Given the description of an element on the screen output the (x, y) to click on. 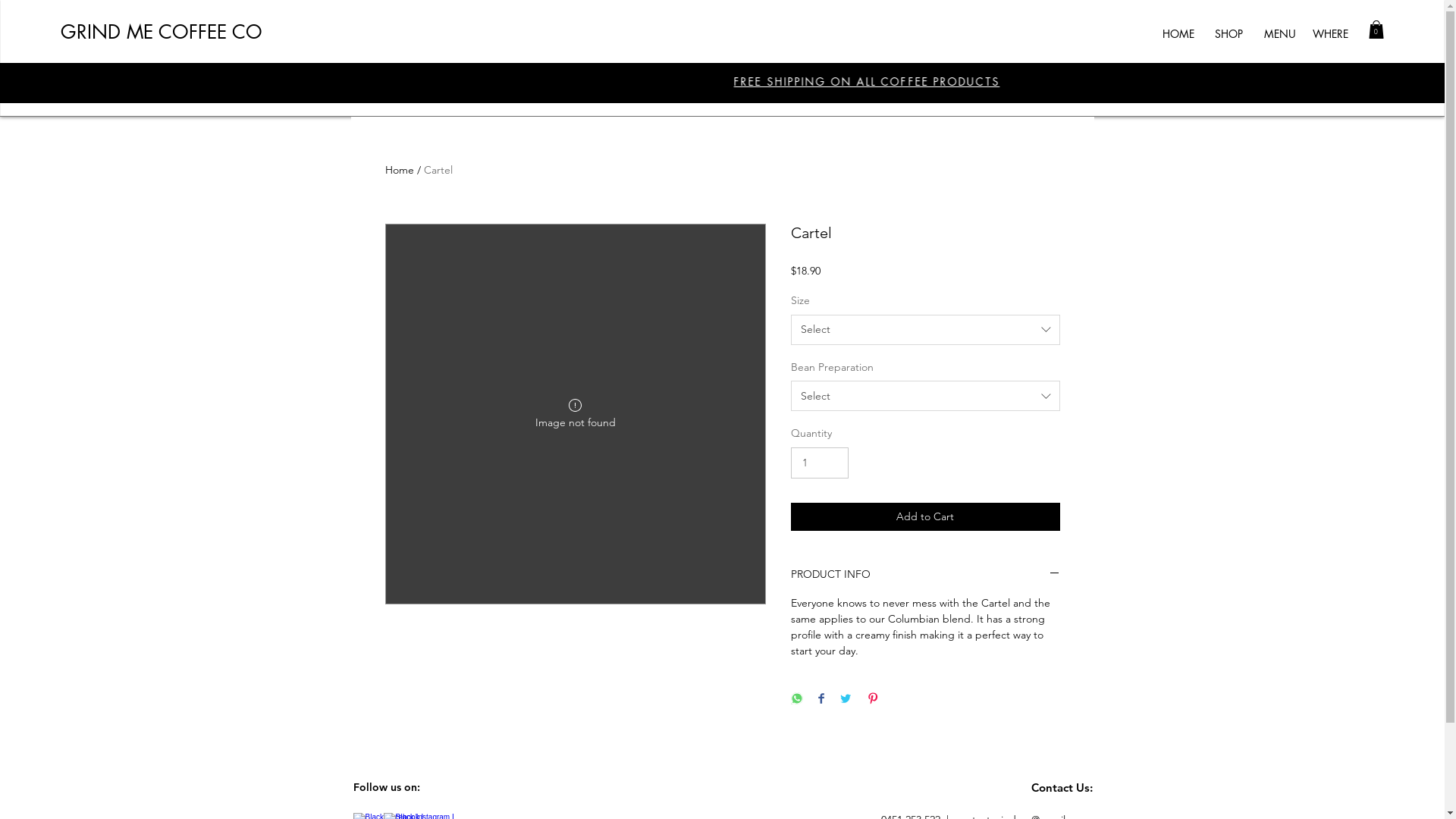
Cartel Element type: text (437, 169)
Select Element type: text (924, 395)
WHOLESALE COFFEE BEANS - ORDER TODAY Element type: text (694, 81)
0 Element type: text (1375, 29)
Add to Cart Element type: text (924, 516)
WHERE Element type: text (1330, 34)
GRIND ME COFFEE CO Element type: text (161, 31)
PRODUCT INFO Element type: text (924, 575)
Select Element type: text (924, 329)
SHOP Element type: text (1228, 34)
Home Element type: text (399, 169)
MENU Element type: text (1279, 34)
HOME Element type: text (1177, 34)
